Given the description of an element on the screen output the (x, y) to click on. 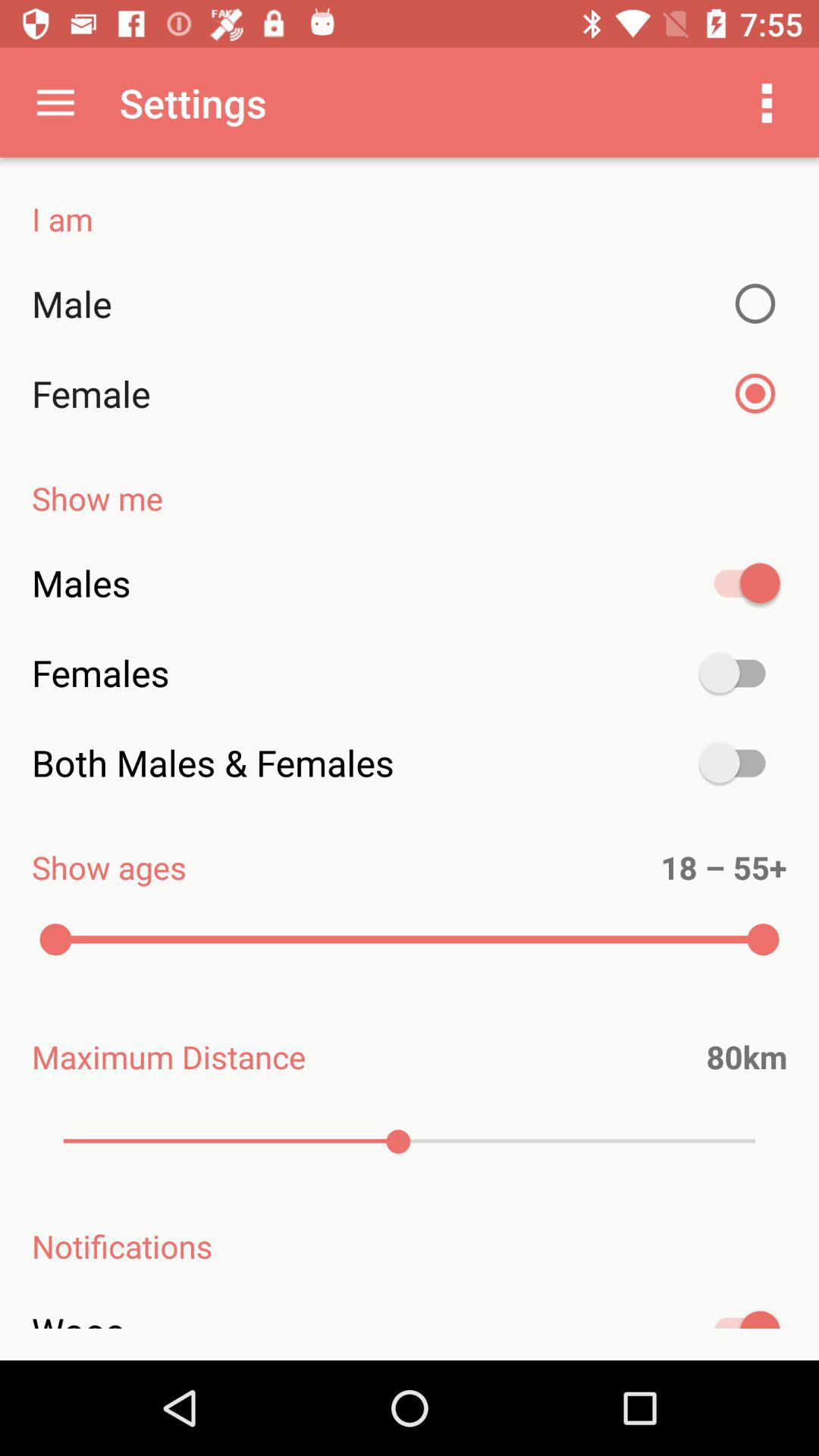
choose the icon above i am item (767, 102)
